Given the description of an element on the screen output the (x, y) to click on. 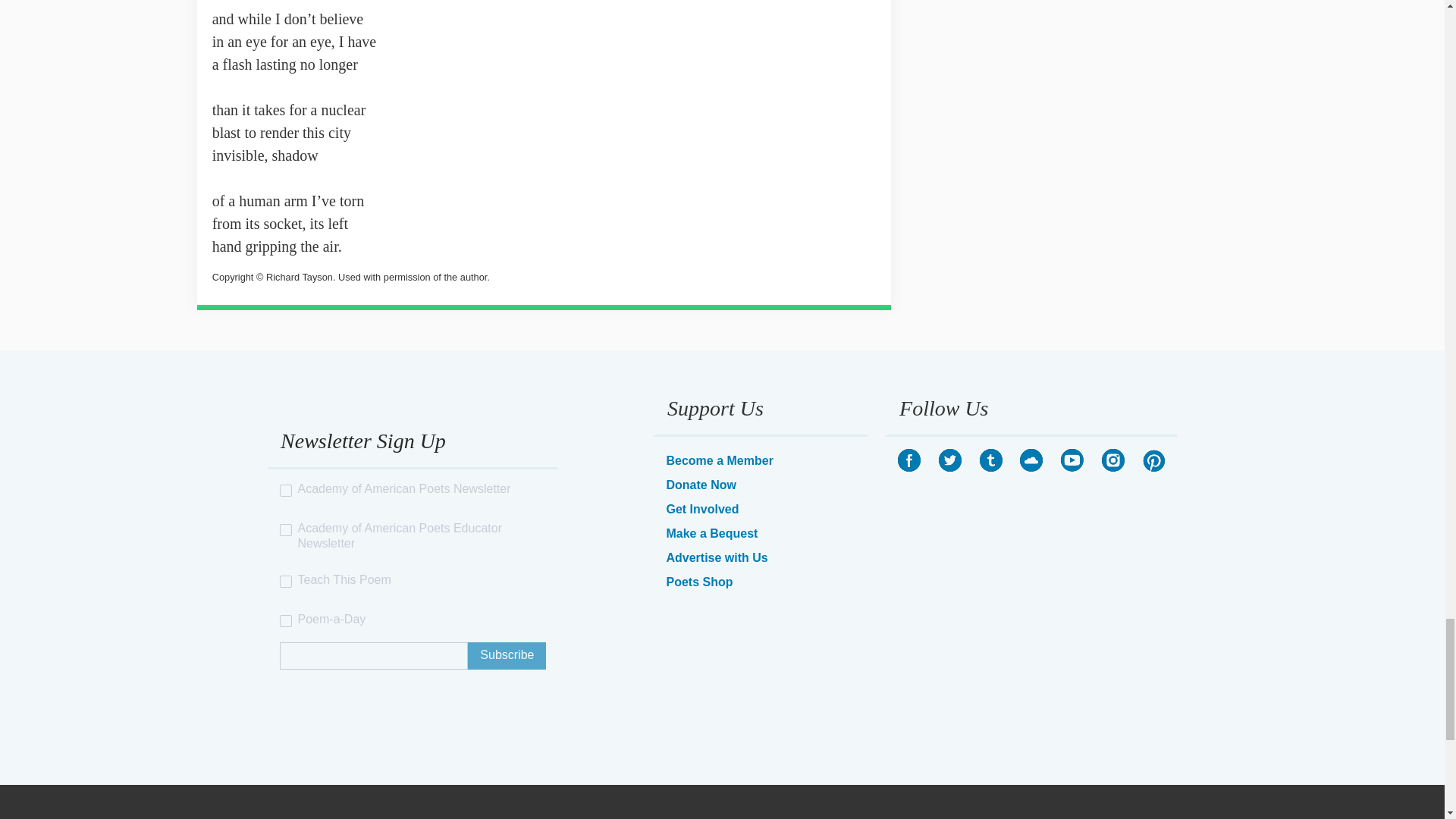
Become a Member (719, 460)
Subscribe (506, 655)
Subscribe (506, 655)
